Given the description of an element on the screen output the (x, y) to click on. 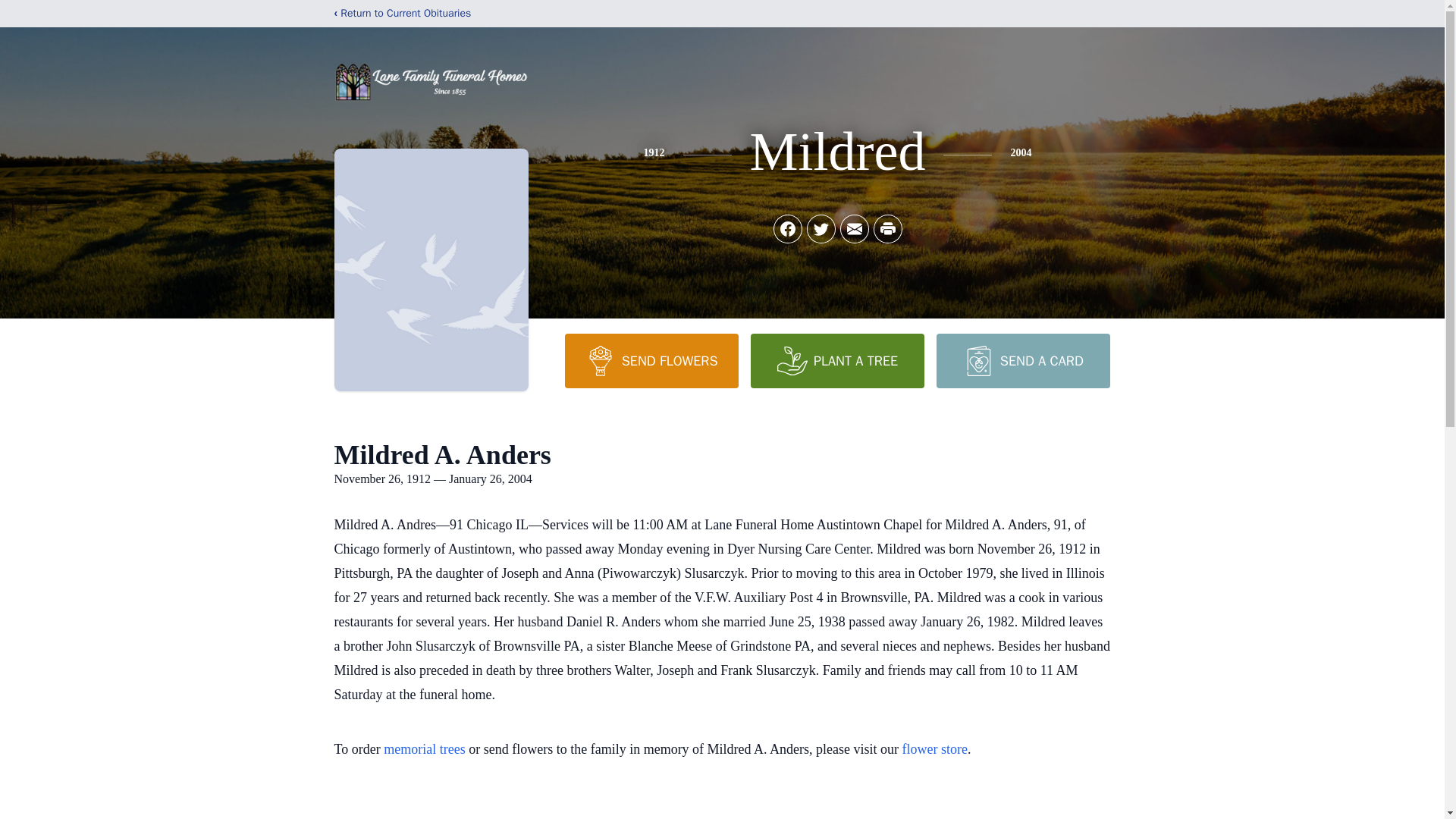
SEND FLOWERS (651, 360)
flower store (935, 749)
SEND A CARD (1022, 360)
memorial trees (424, 749)
PLANT A TREE (837, 360)
